Given the description of an element on the screen output the (x, y) to click on. 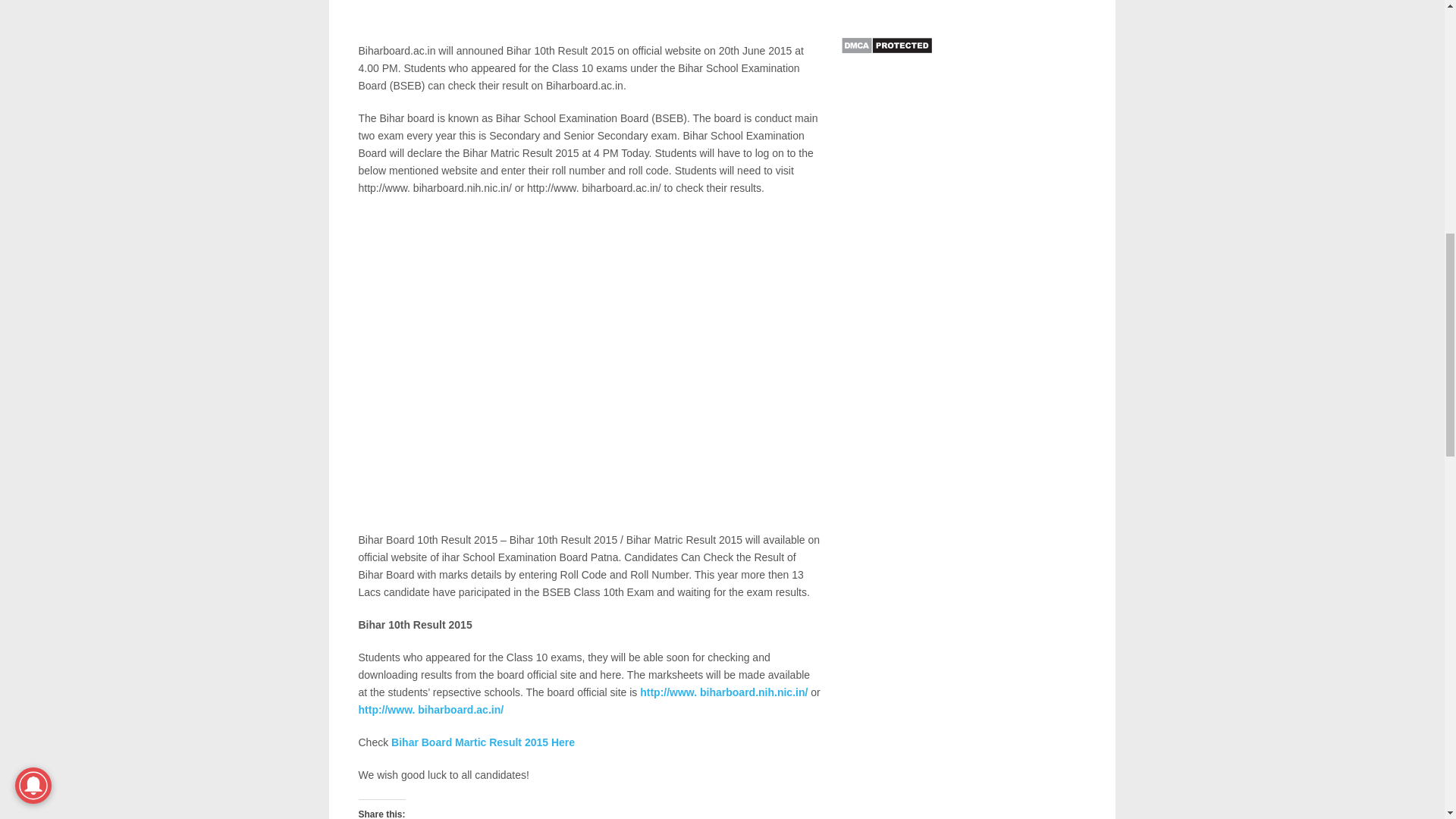
Advertisement (589, 21)
